Given the description of an element on the screen output the (x, y) to click on. 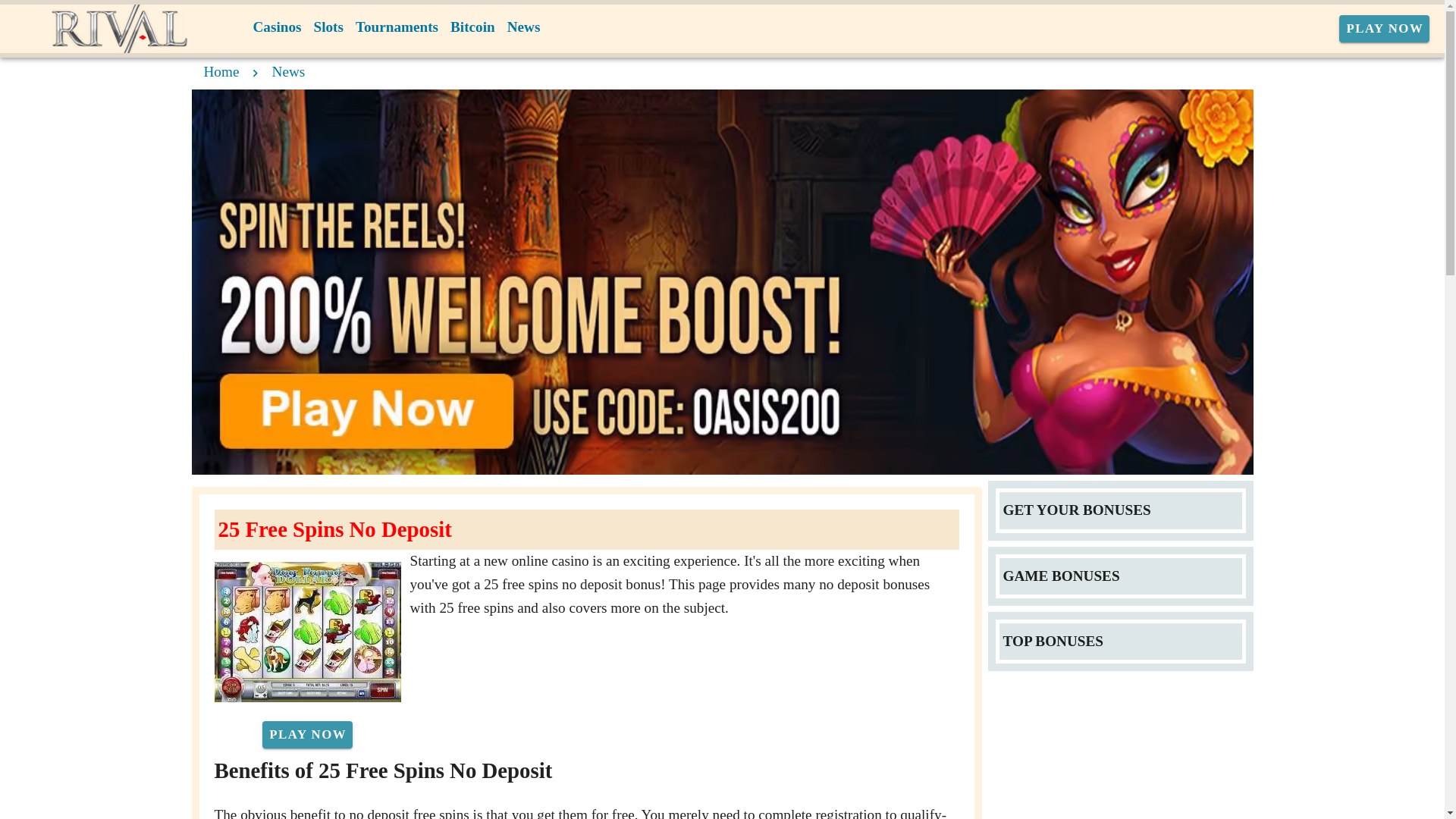
Home (220, 71)
PLAY NOW (307, 734)
Tournaments (396, 27)
Bitcoin (472, 27)
News (288, 71)
News (523, 27)
Casinos (277, 27)
PLAY NOW (1384, 28)
Slots (328, 27)
